Given the description of an element on the screen output the (x, y) to click on. 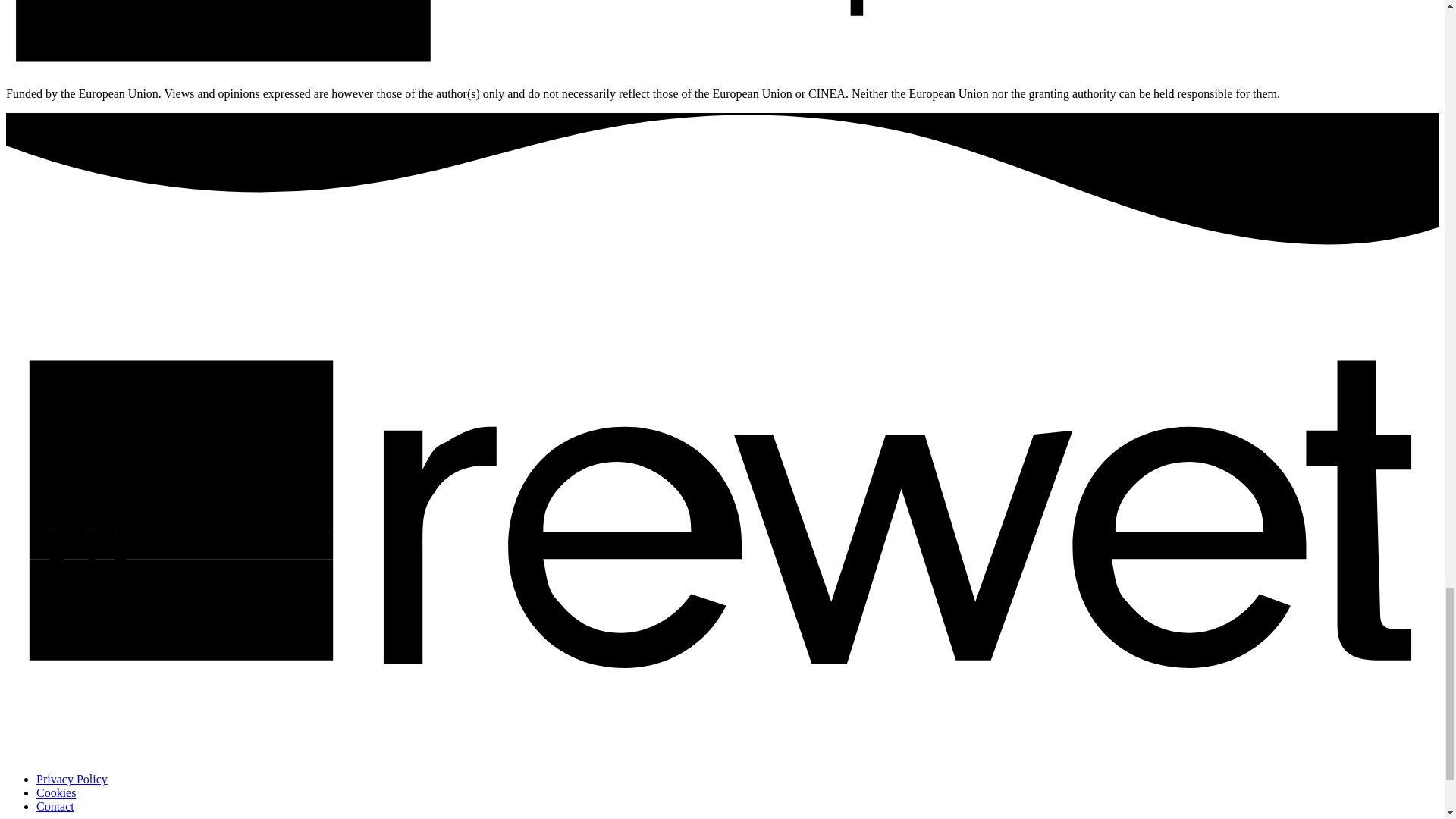
Privacy Policy (71, 779)
Contact (55, 806)
Cookies (55, 792)
